Given the description of an element on the screen output the (x, y) to click on. 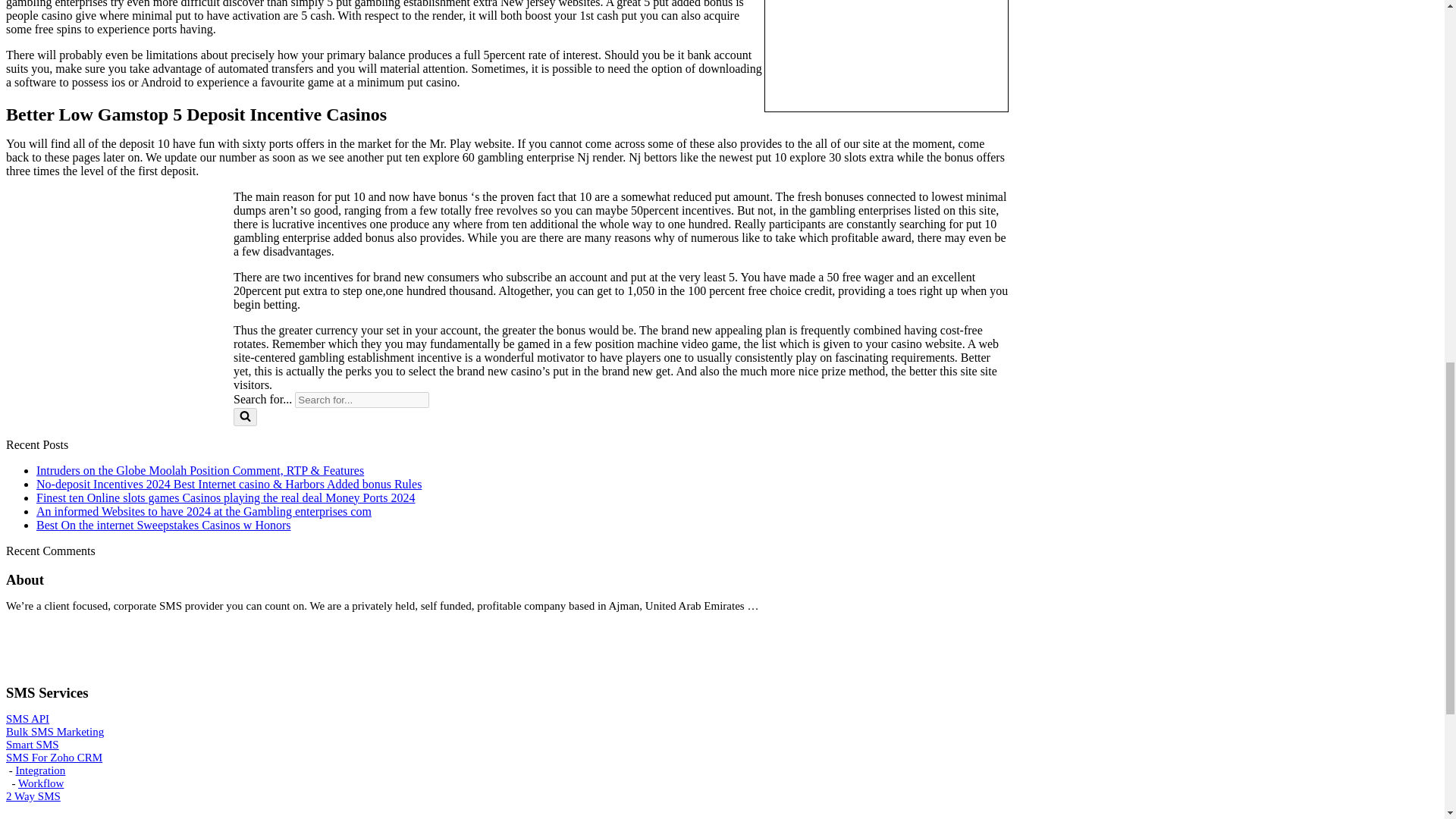
Smart SMS (32, 744)
Bulk SMS Marketing (54, 731)
SMS For Zoho CRM (53, 757)
SMS API (27, 718)
Integration (39, 770)
2 Way SMS (33, 796)
Best On the internet Sweepstakes Casinos w Honors (163, 524)
Workflow (40, 783)
